Given the description of an element on the screen output the (x, y) to click on. 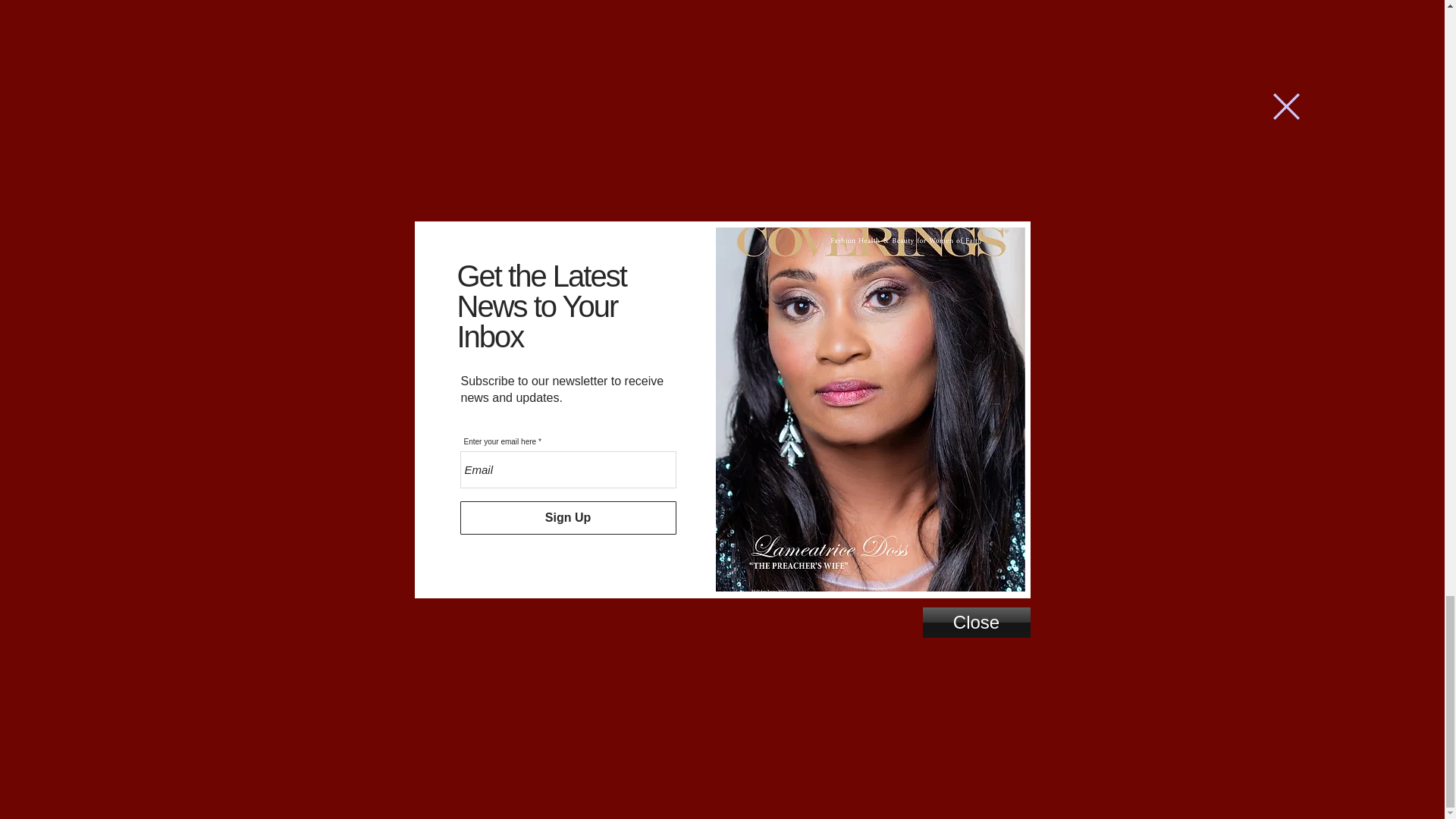
1 comment (531, 365)
Fashion (990, 365)
Digital Magazine (984, 320)
